Given the description of an element on the screen output the (x, y) to click on. 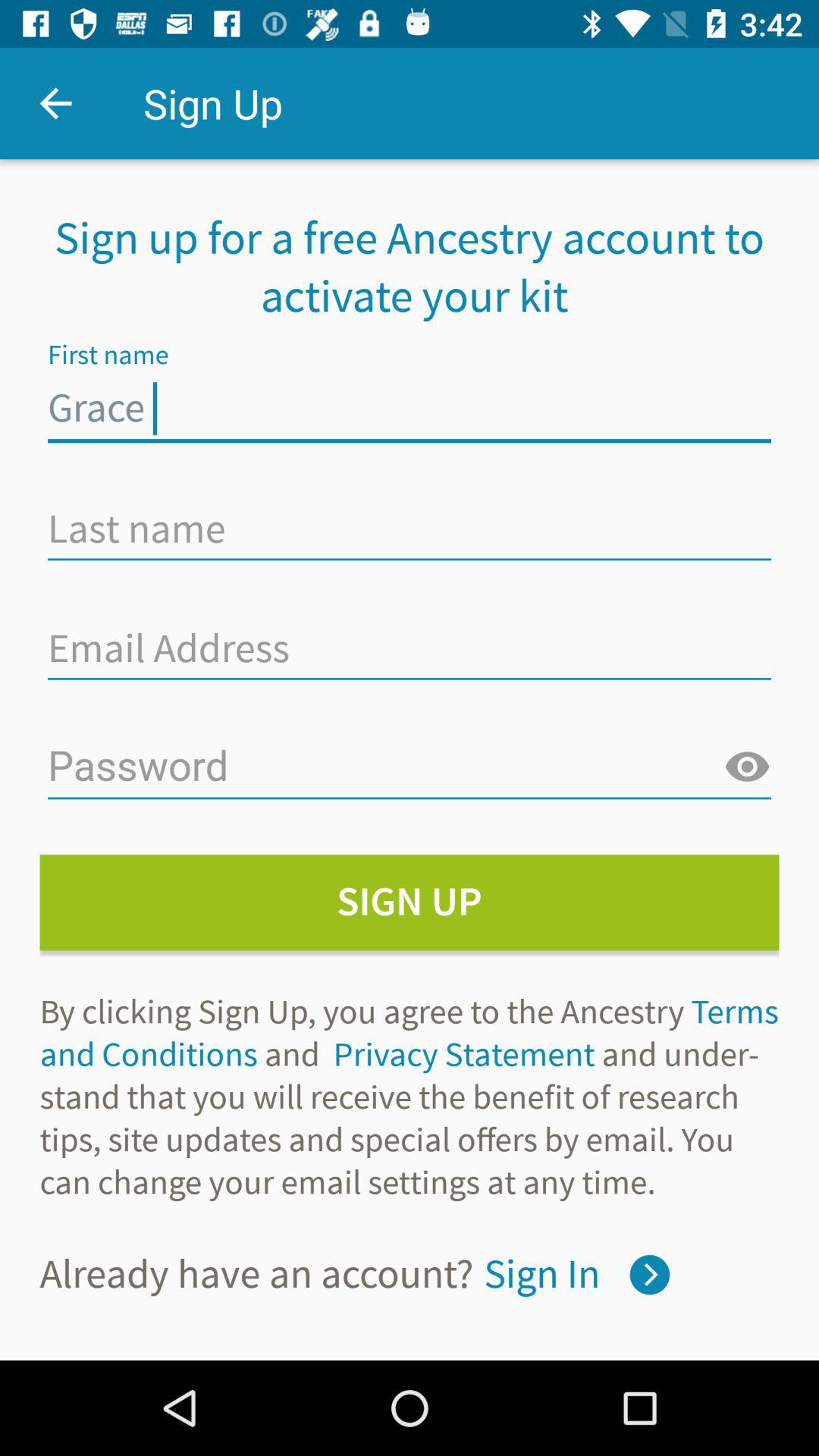
go next (649, 1274)
